Given the description of an element on the screen output the (x, y) to click on. 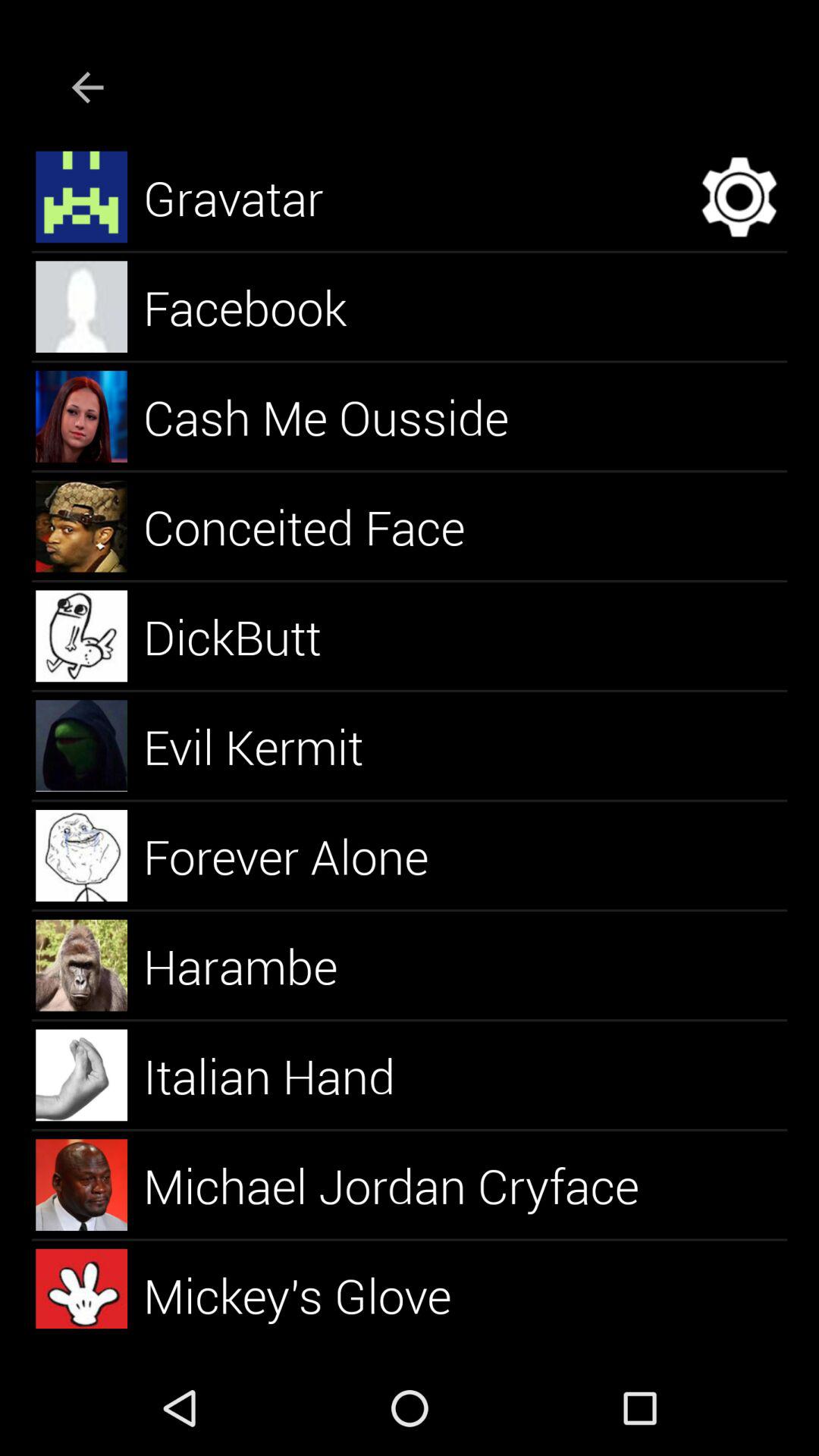
turn off italian hand (287, 1074)
